Given the description of an element on the screen output the (x, y) to click on. 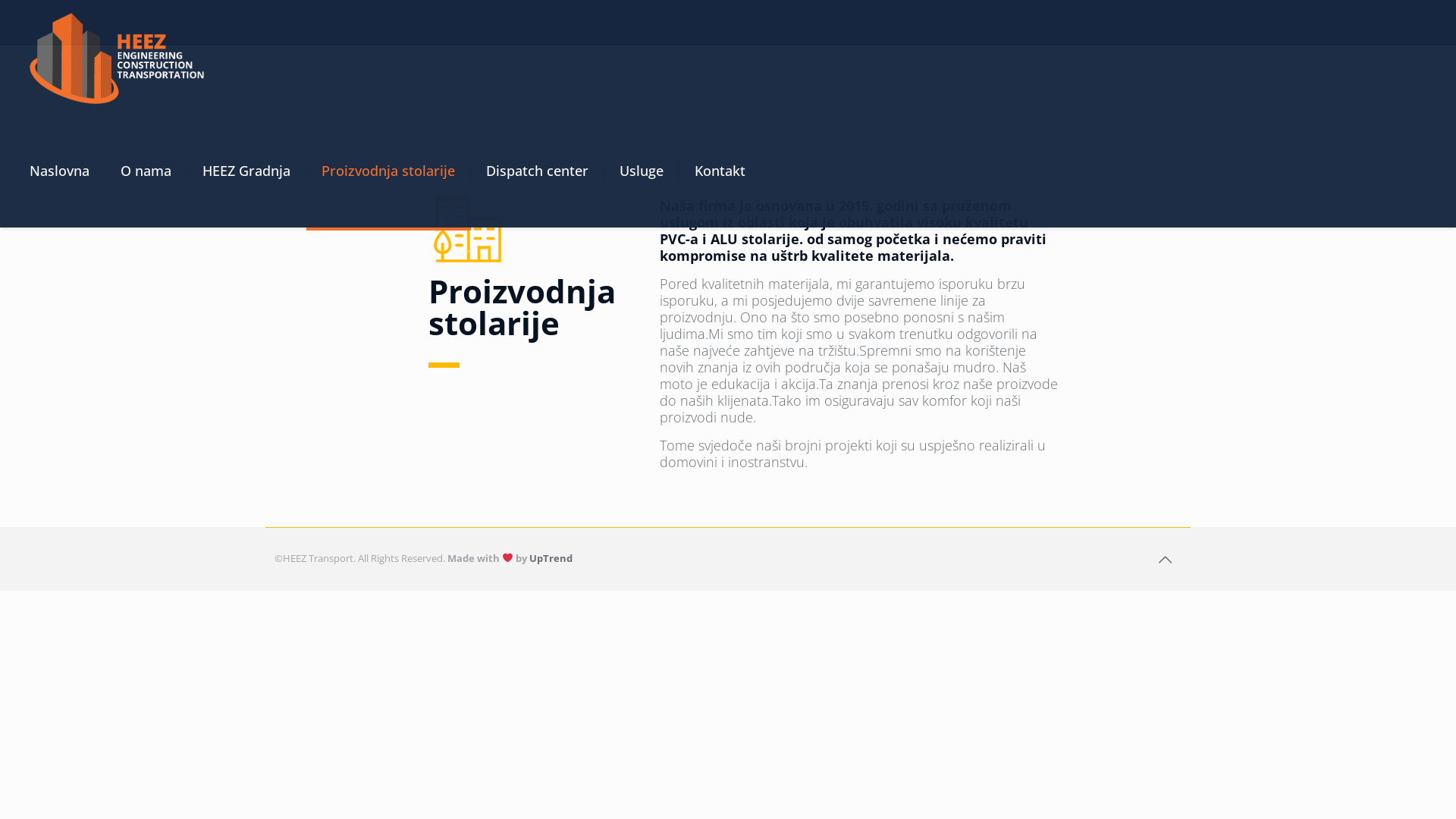
Dispatch center Element type: text (537, 170)
Proizvodnja stolarije Element type: text (388, 170)
Usluge Element type: text (641, 170)
Kontakt Element type: text (719, 170)
UpTrend Element type: text (550, 557)
HEEZ Transport Element type: hover (116, 56)
HEEZ Gradnja Element type: text (246, 170)
Naslovna Element type: text (59, 170)
O nama Element type: text (146, 170)
